Given the description of an element on the screen output the (x, y) to click on. 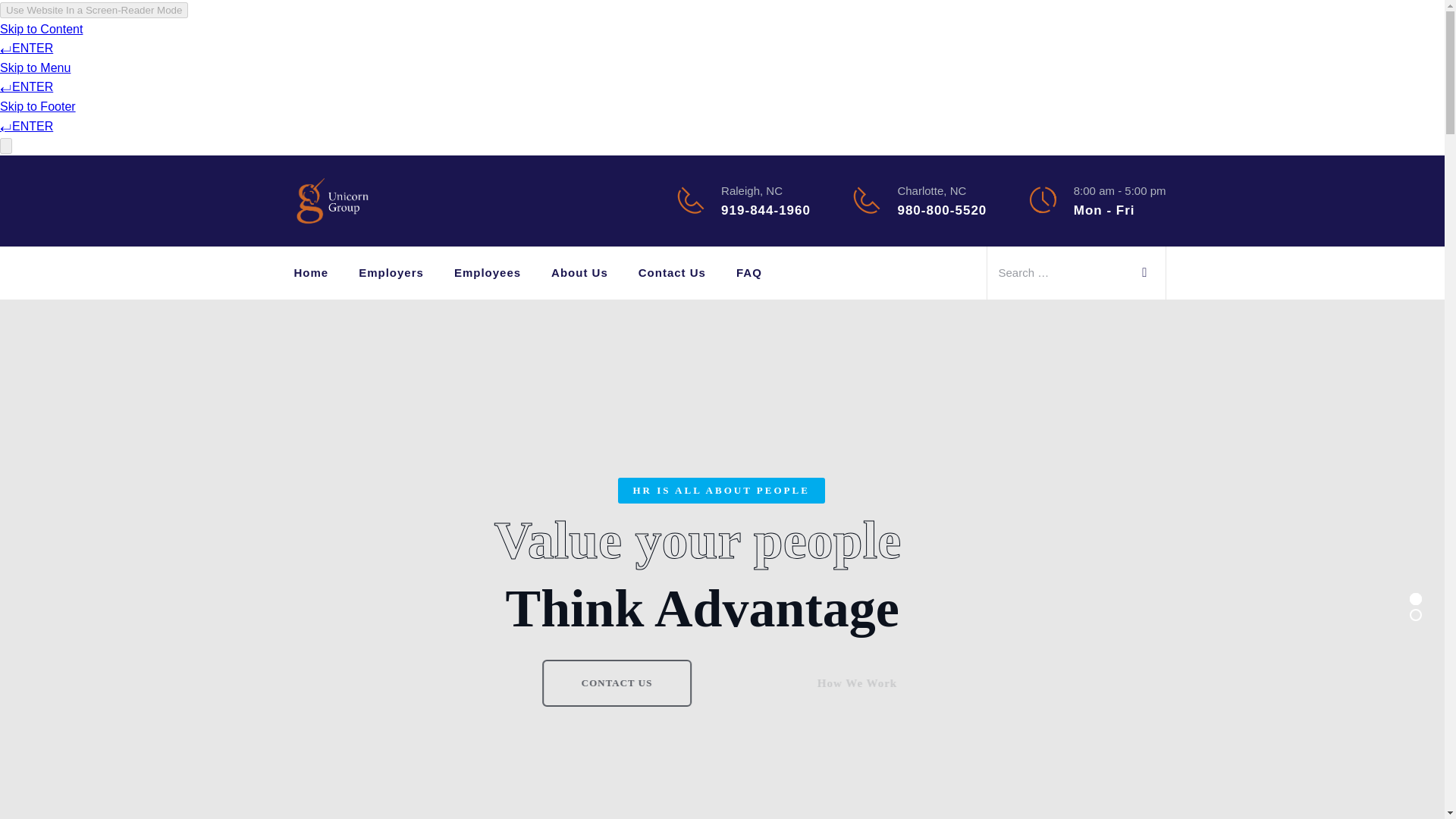
Employees (487, 272)
About Us (579, 272)
Employers (390, 272)
SEARCH (1145, 269)
Contact Us (672, 272)
The Unicorn Group (333, 200)
